Given the description of an element on the screen output the (x, y) to click on. 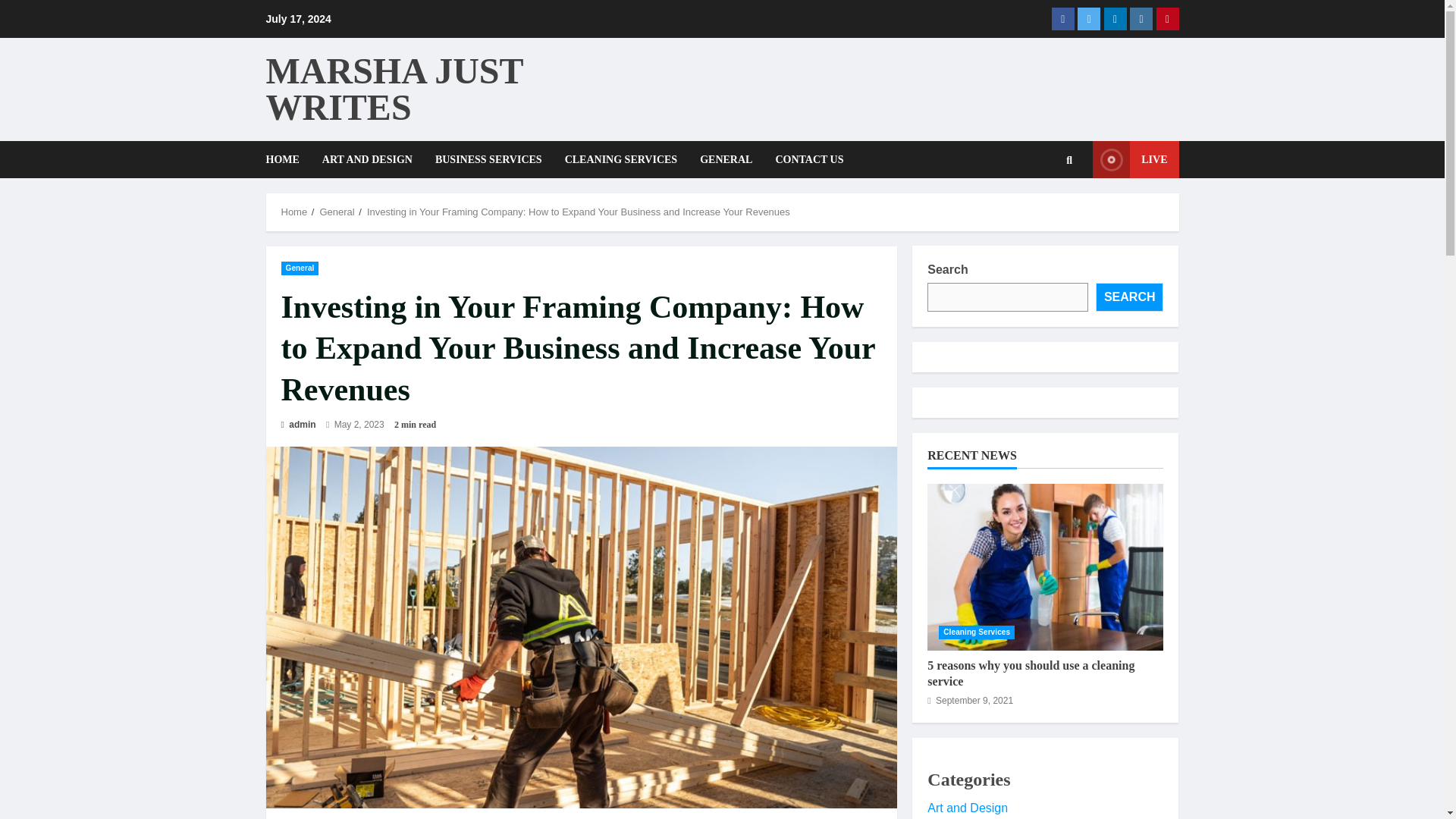
General (299, 267)
Search (1045, 211)
LIVE (1135, 159)
Twitter (1088, 18)
SEARCH (1129, 297)
Facebook (1062, 18)
admin (298, 424)
HOME (287, 159)
Art and Design (967, 807)
Instagram (1141, 18)
Cleaning Services (976, 632)
LinkedIn (1114, 18)
ART AND DESIGN (367, 159)
CONTACT US (802, 159)
